Given the description of an element on the screen output the (x, y) to click on. 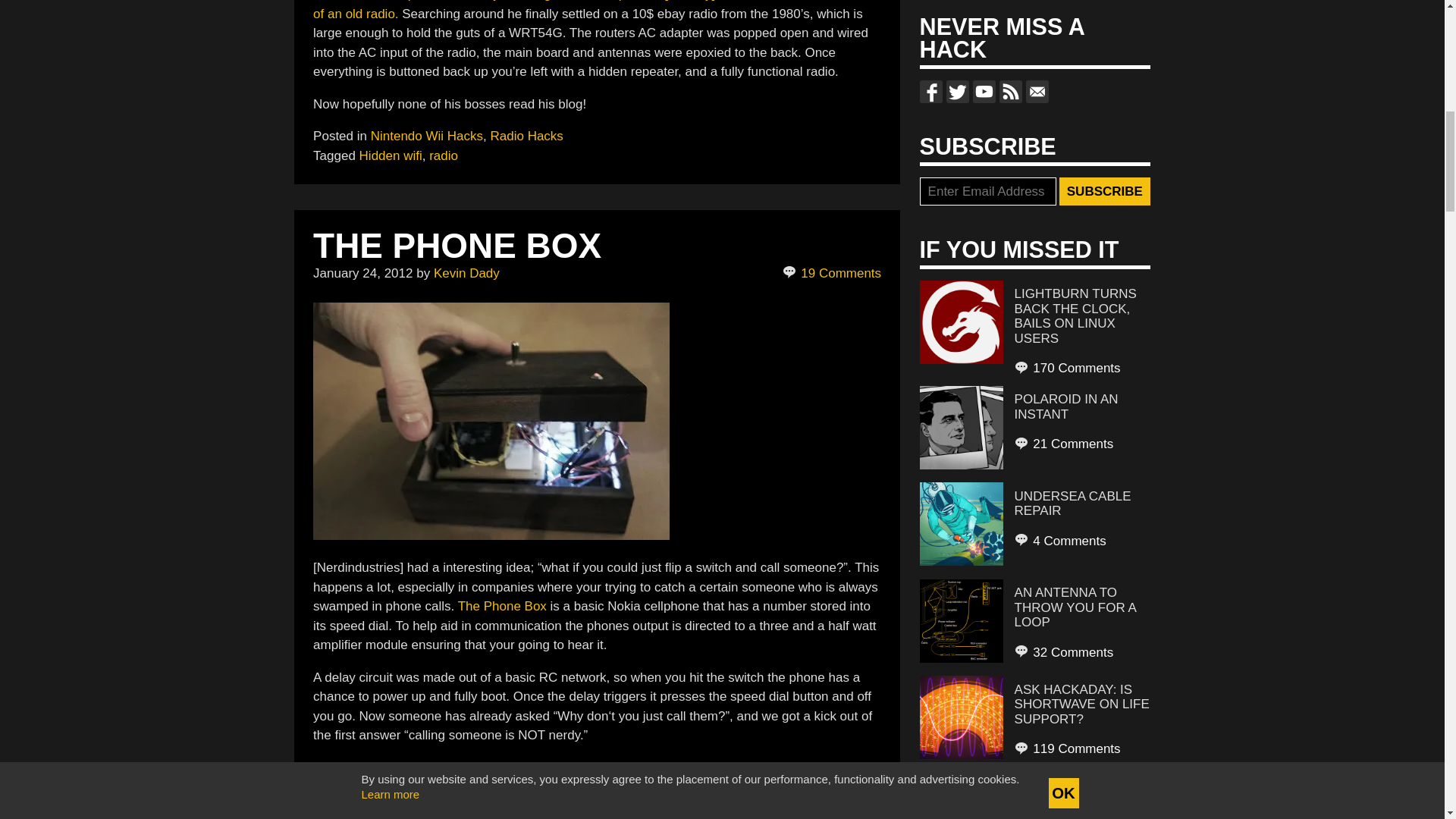
January 24, 2012 (362, 273)
Untitled (491, 420)
Hidden wifi (390, 155)
19 Comments (832, 273)
radio (443, 155)
THE PHONE BOX (457, 245)
Subscribe (1104, 191)
Kevin Dady (466, 273)
Posts by Kevin Dady (466, 273)
Nintendo Wii Hacks (427, 135)
Radio Hacks (525, 135)
January 24, 2012 - 1:01 pm (362, 273)
The Phone Box (504, 605)
